Given the description of an element on the screen output the (x, y) to click on. 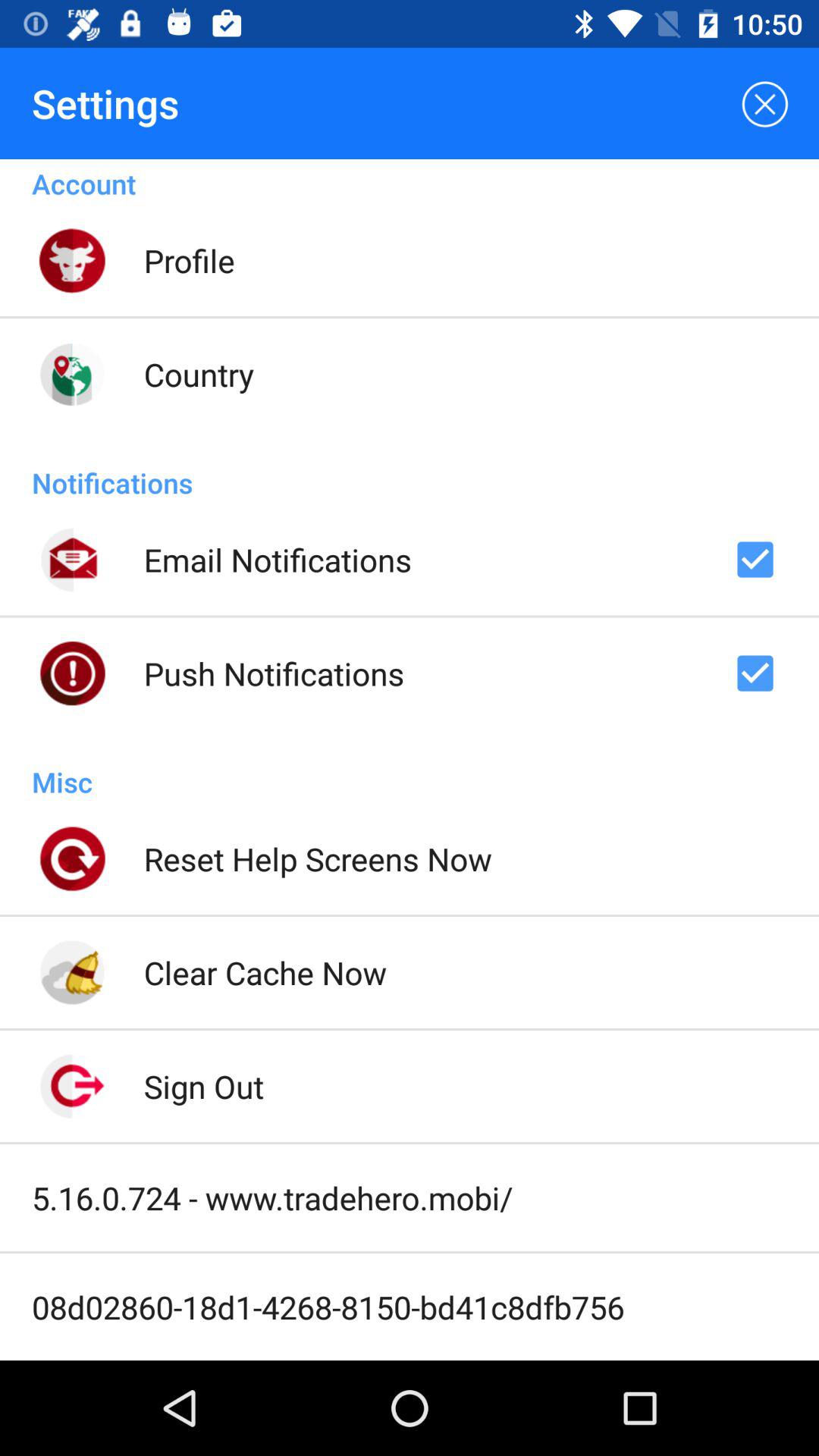
launch the item below misc icon (317, 858)
